Given the description of an element on the screen output the (x, y) to click on. 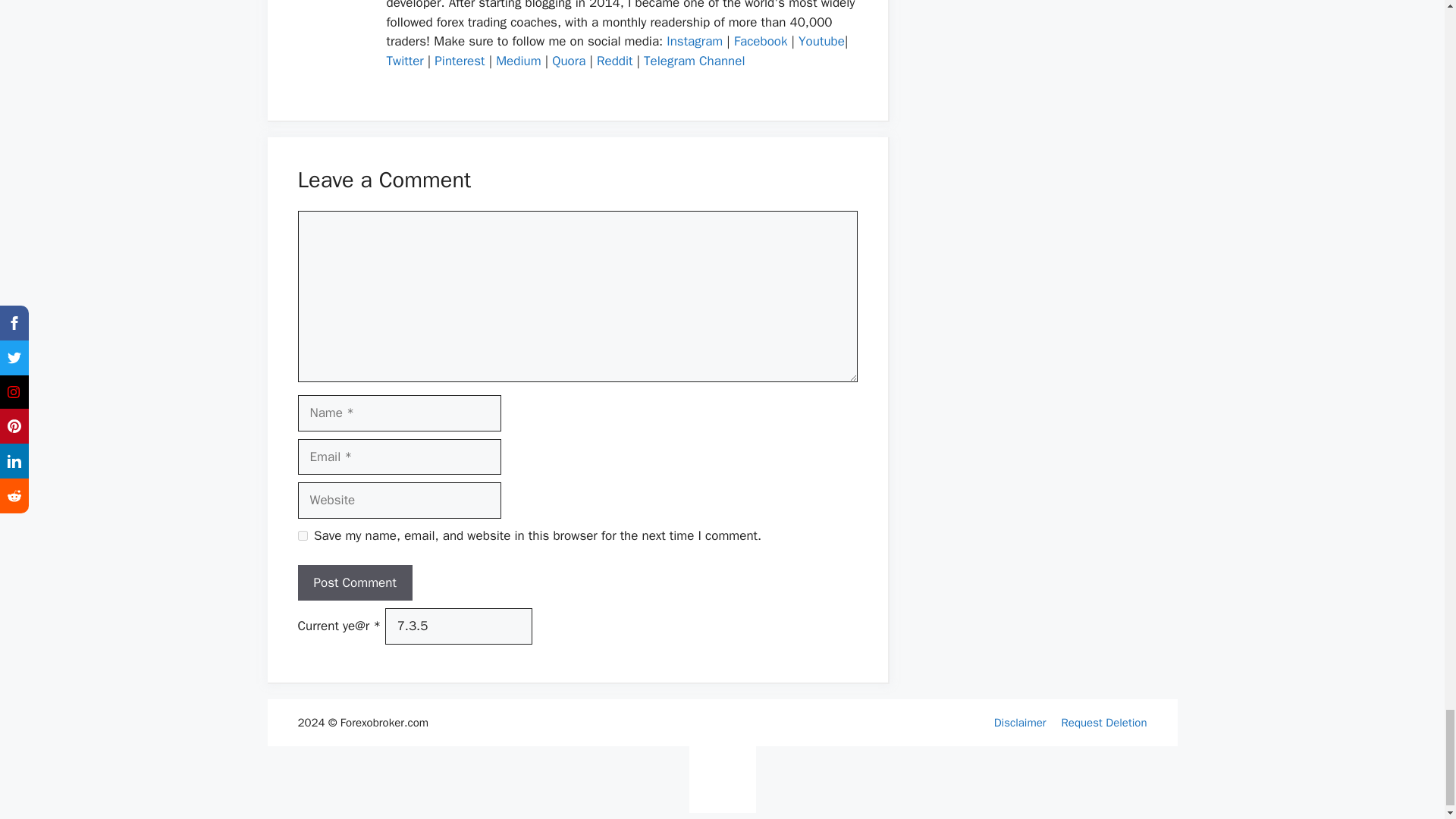
7.3.5 (458, 626)
Post Comment (354, 583)
yes (302, 535)
